Given the description of an element on the screen output the (x, y) to click on. 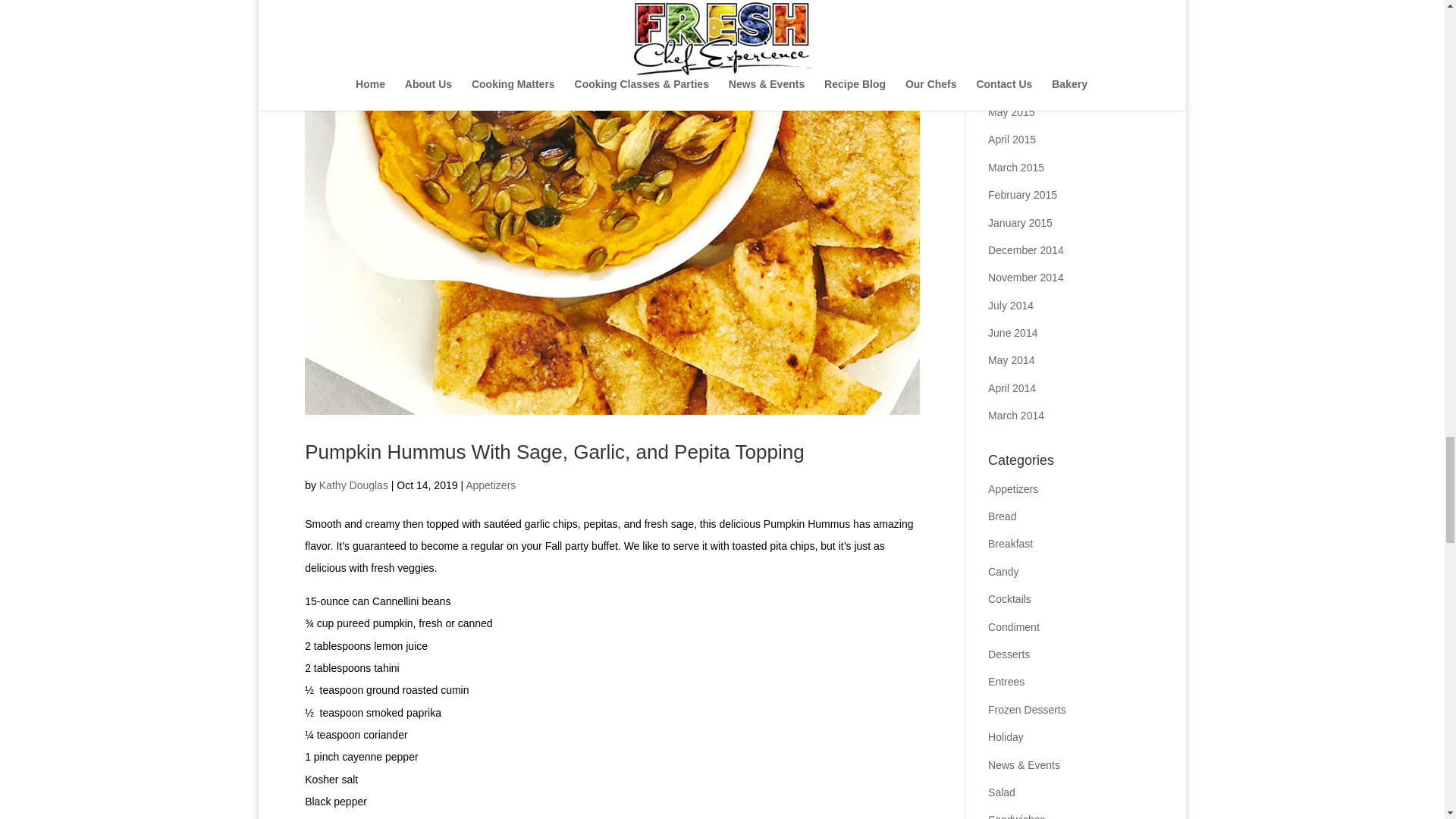
Posts by Kathy Douglas (353, 485)
Appetizers (490, 485)
Pumpkin Hummus With Sage, Garlic, and Pepita Topping (554, 451)
Kathy Douglas (353, 485)
